Given the description of an element on the screen output the (x, y) to click on. 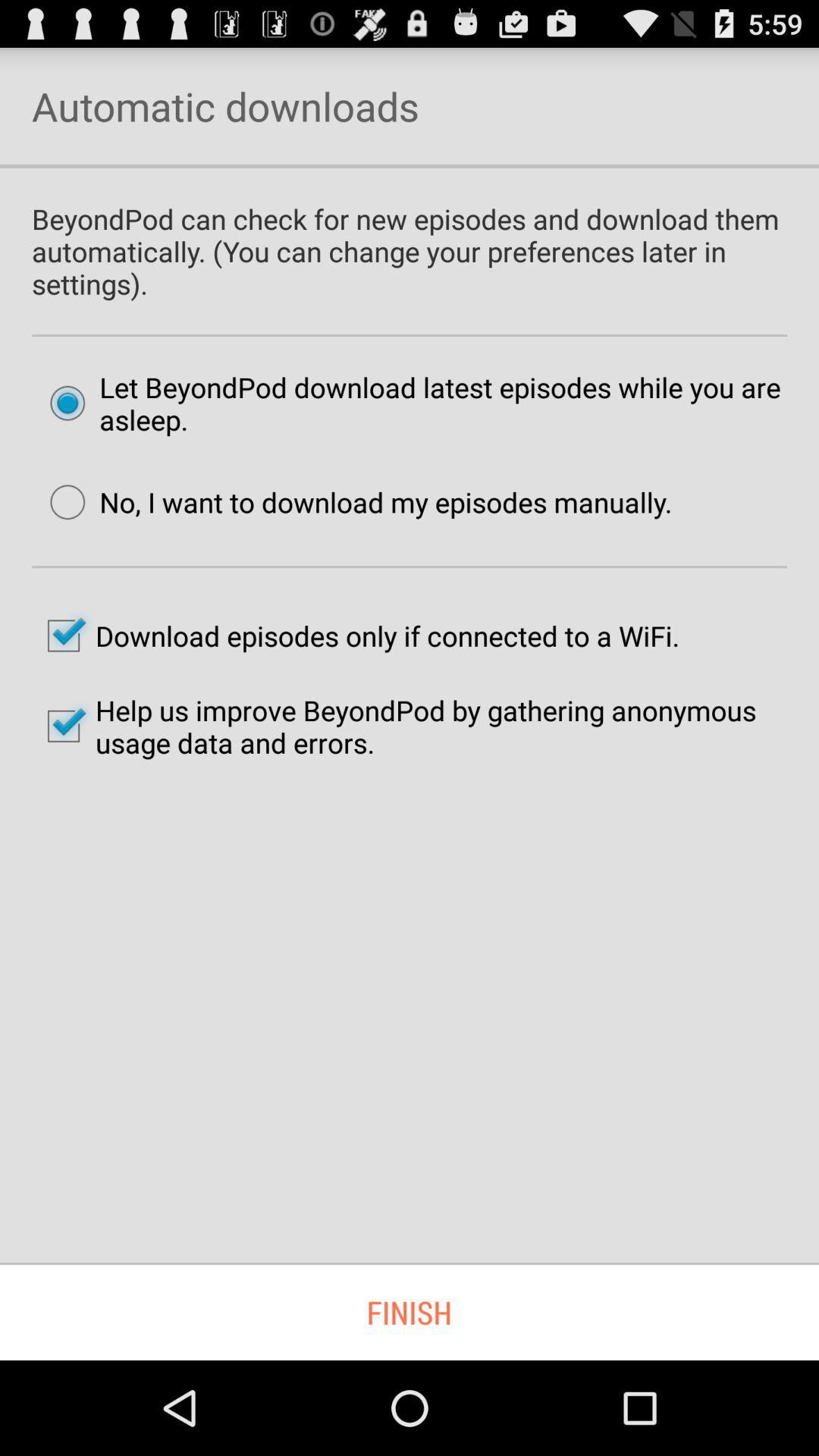
open the no i want item (353, 502)
